Given the description of an element on the screen output the (x, y) to click on. 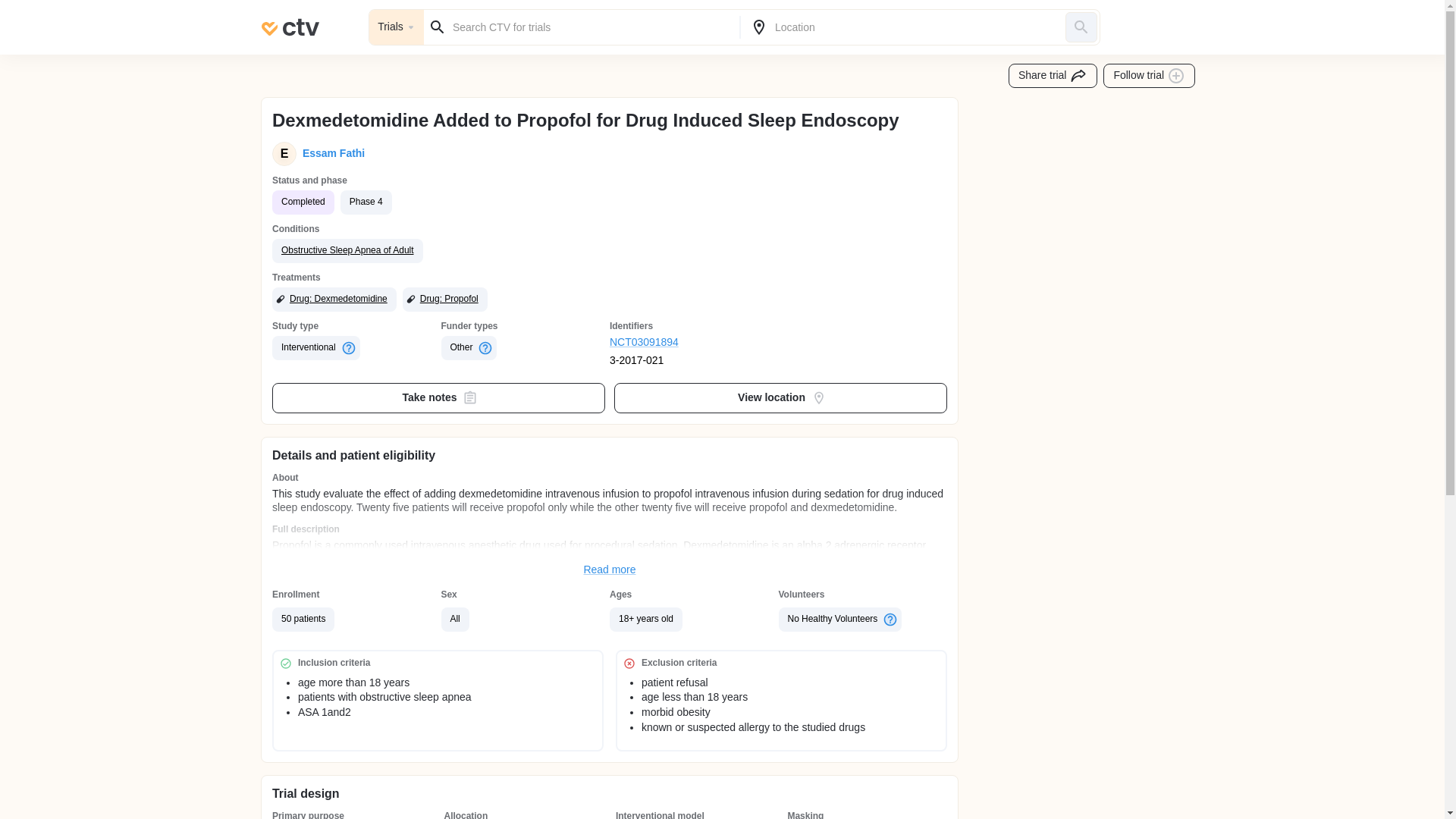
Trials (396, 27)
NCT03091894 (694, 342)
Share trial (1053, 75)
Read more (609, 570)
Follow trial (1149, 75)
View location (780, 398)
Take notes (438, 398)
Essam Fathi (331, 153)
